Given the description of an element on the screen output the (x, y) to click on. 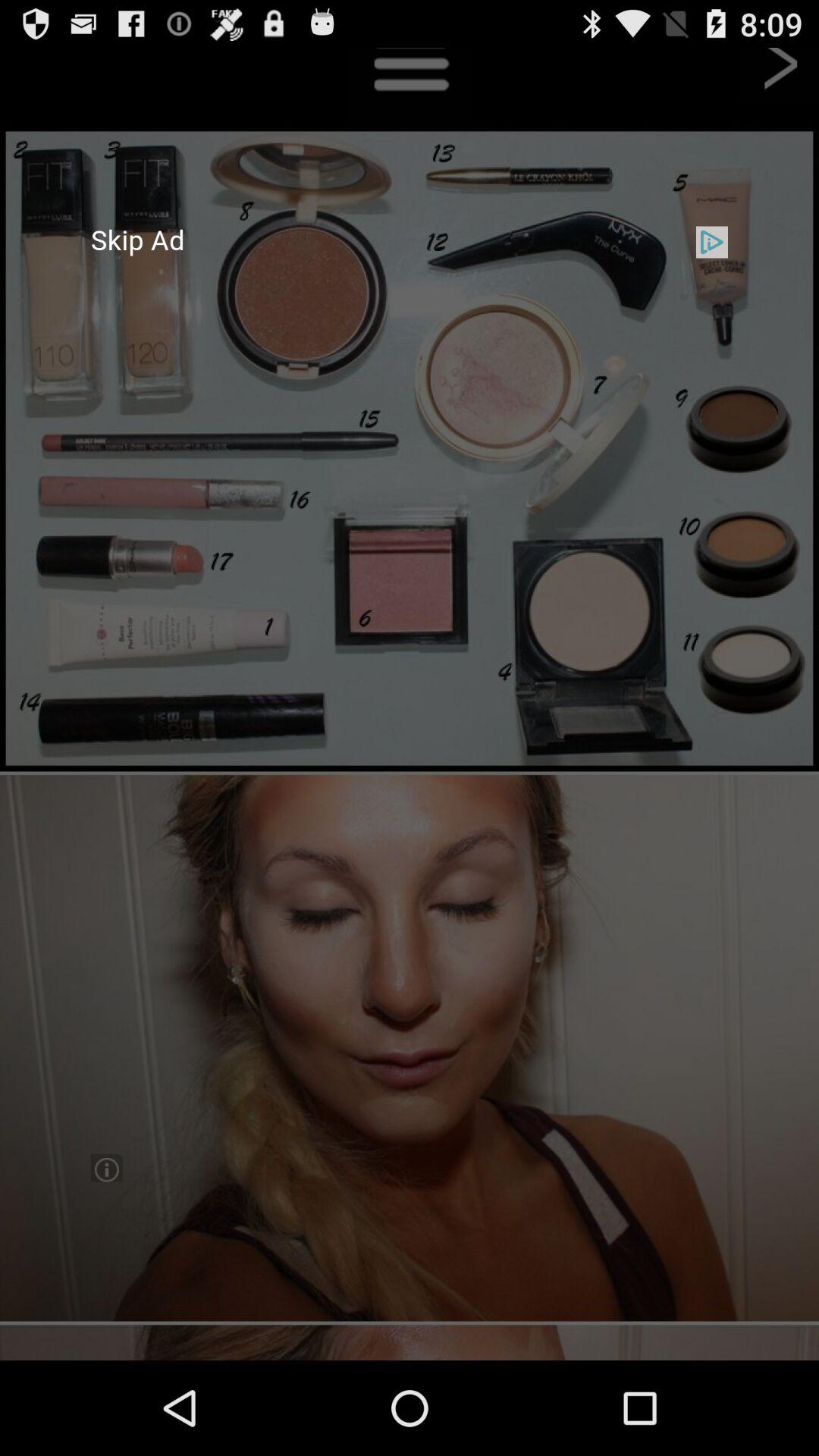
go to advertisement (409, 703)
